Given the description of an element on the screen output the (x, y) to click on. 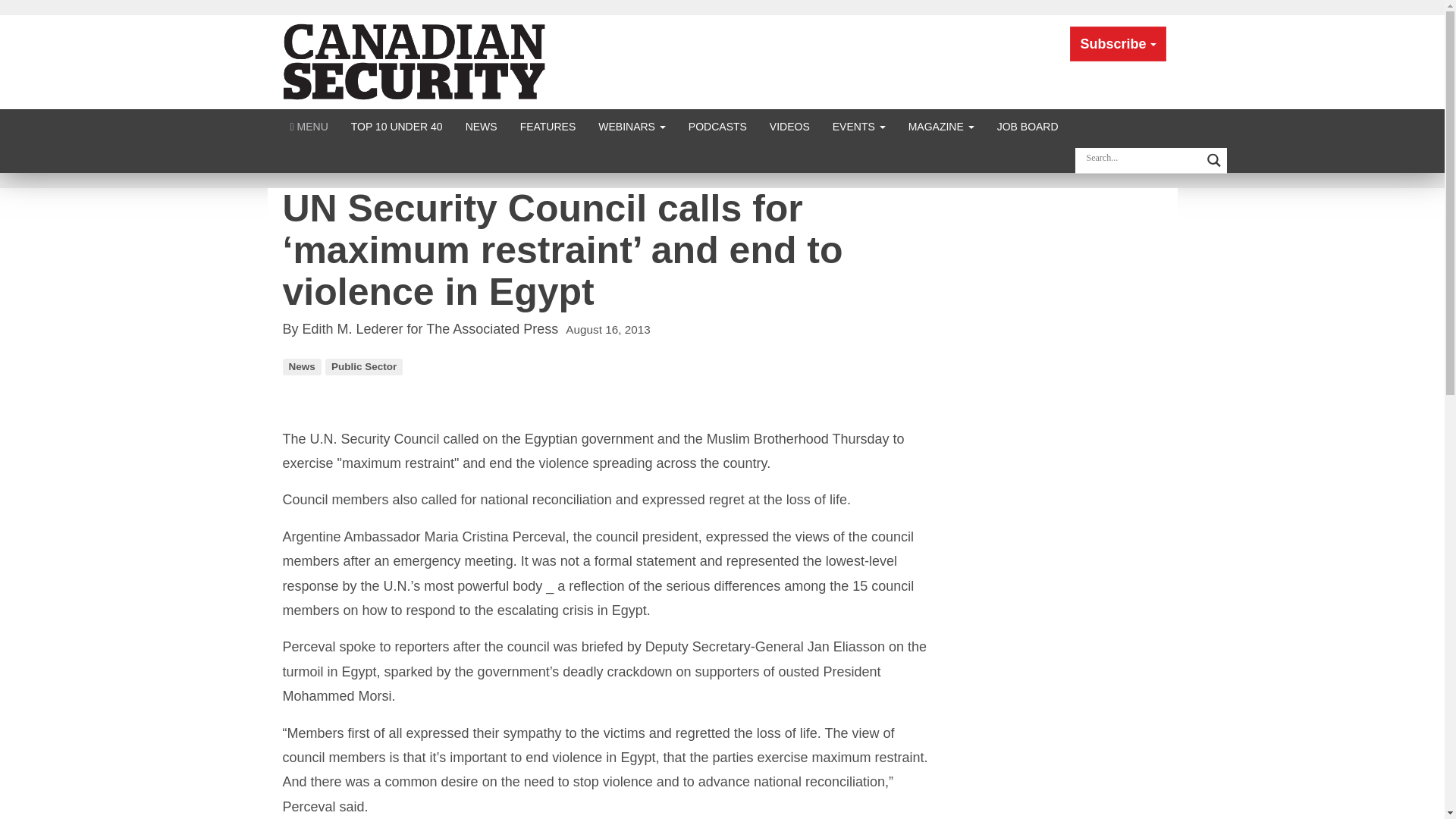
PODCASTS (717, 125)
TOP 10 UNDER 40 (396, 125)
EVENTS (858, 125)
MENU (309, 125)
Canadian Security Magazine (415, 61)
WEBINARS (631, 125)
MAGAZINE (940, 125)
Click to show site navigation (309, 125)
JOB BOARD (1027, 125)
Subscribe (1118, 43)
